Given the description of an element on the screen output the (x, y) to click on. 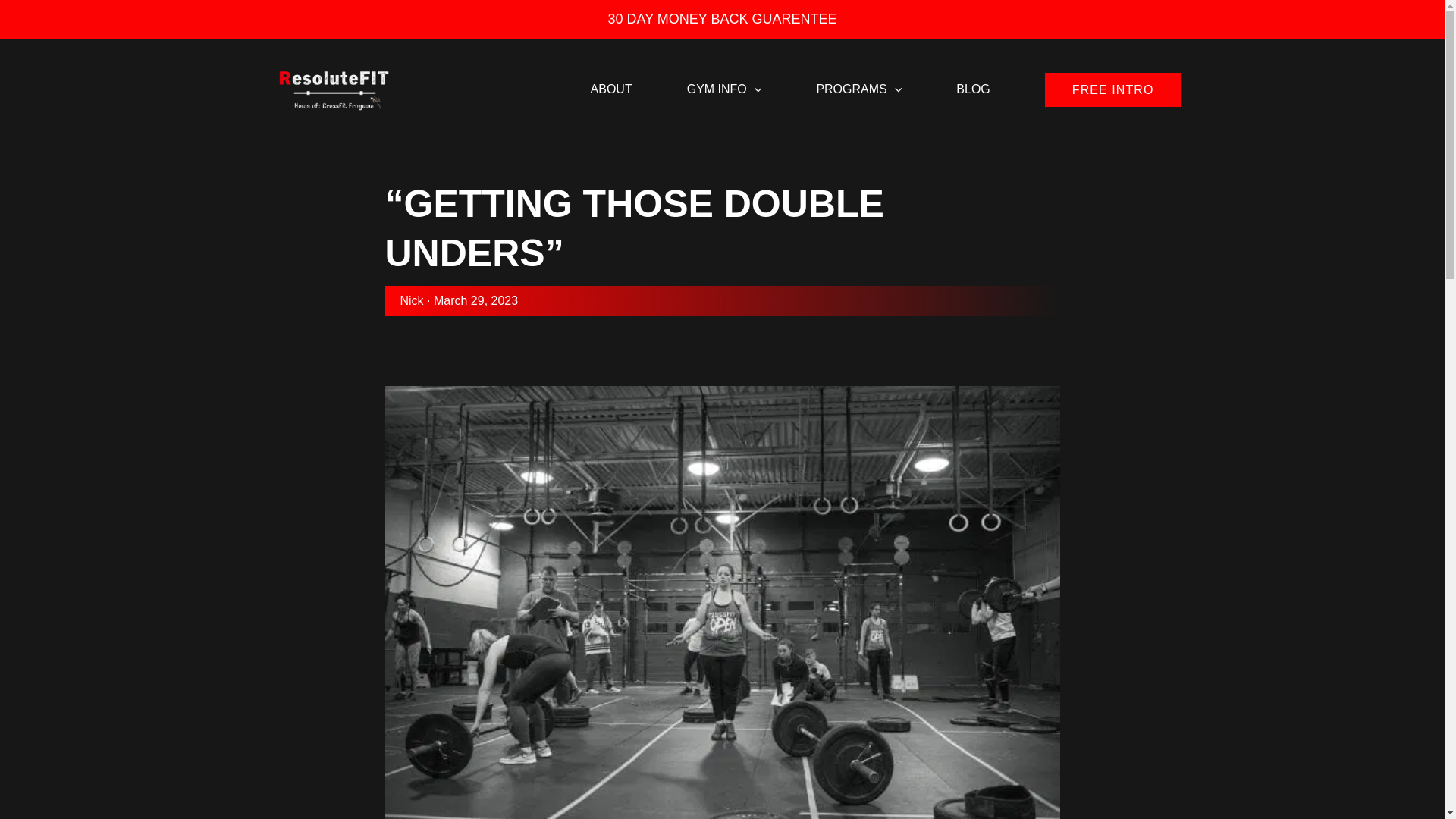
GYM INFO (724, 79)
FREE INTRO (1112, 89)
BLOG (972, 79)
ABOUT (611, 79)
PROGRAMS (858, 79)
